Given the description of an element on the screen output the (x, y) to click on. 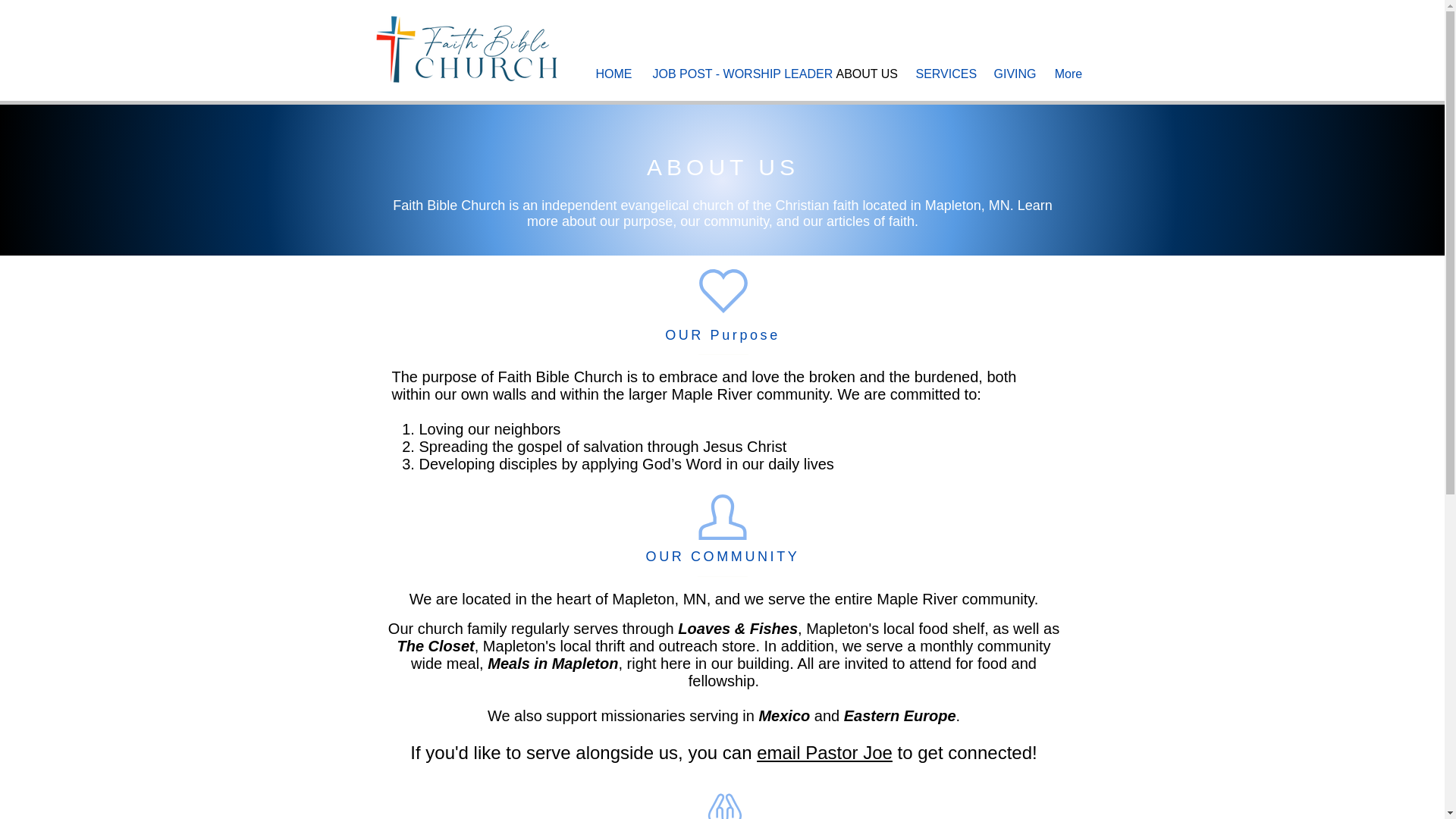
GIVING (1012, 73)
ABOUT US (864, 73)
SERVICES (942, 73)
JOB POST - WORSHIP LEADER (733, 73)
email Pastor Joe (824, 752)
HOME (611, 73)
